Given the description of an element on the screen output the (x, y) to click on. 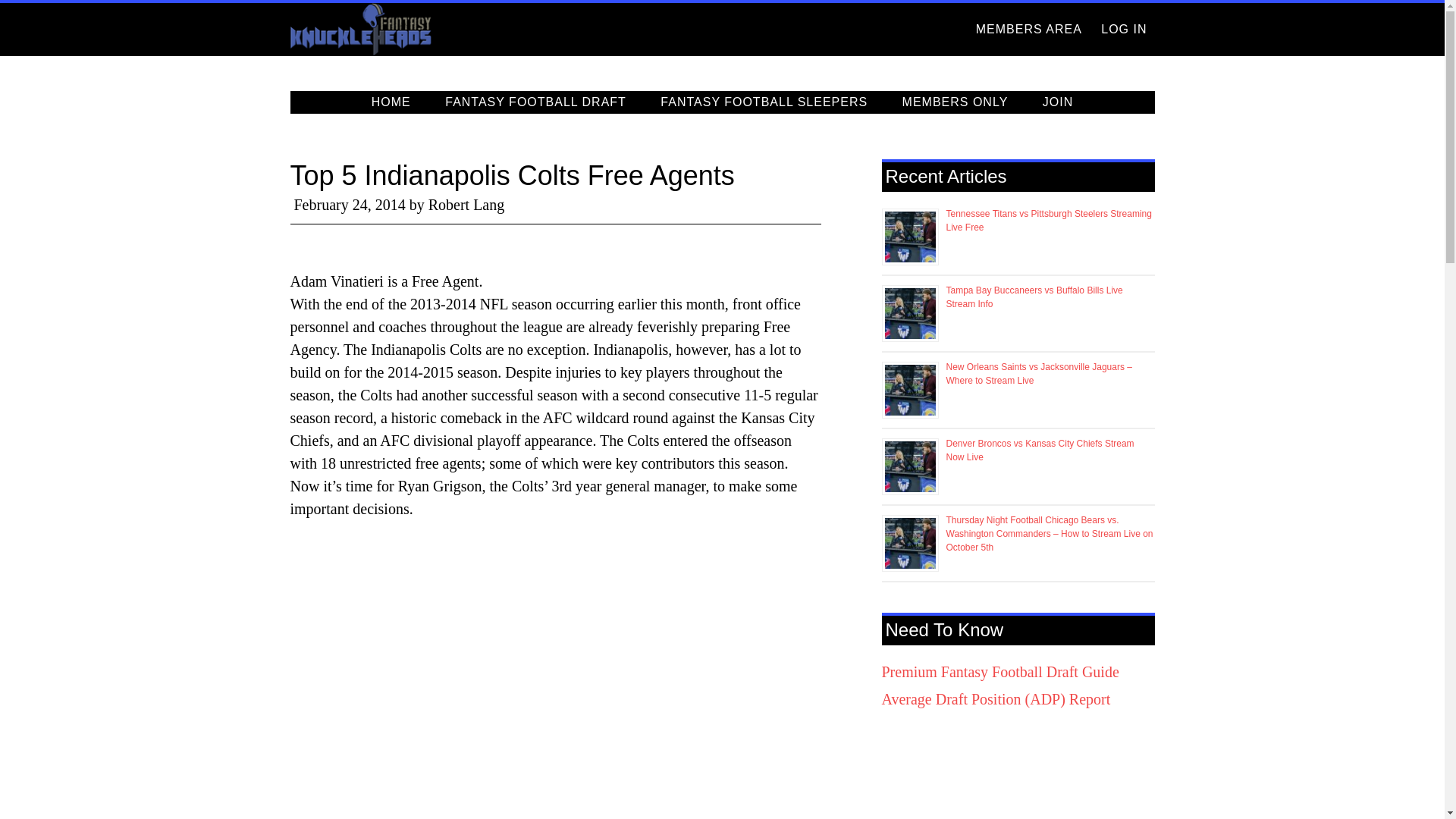
MEMBERS ONLY (954, 101)
Advertisement (555, 798)
Premium Fantasy Football Draft Guide 2017 (999, 671)
FANTASY FOOTBALL SLEEPERS (763, 101)
Premium Fantasy Football Draft Guide (999, 671)
MEMBERS AREA (1028, 29)
JOIN (1057, 101)
Tampa Bay Buccaneers vs Buffalo Bills Live Stream Info (1034, 297)
FANTASY FOOTBALL DRAFT (535, 101)
HOME (391, 101)
